Given the description of an element on the screen output the (x, y) to click on. 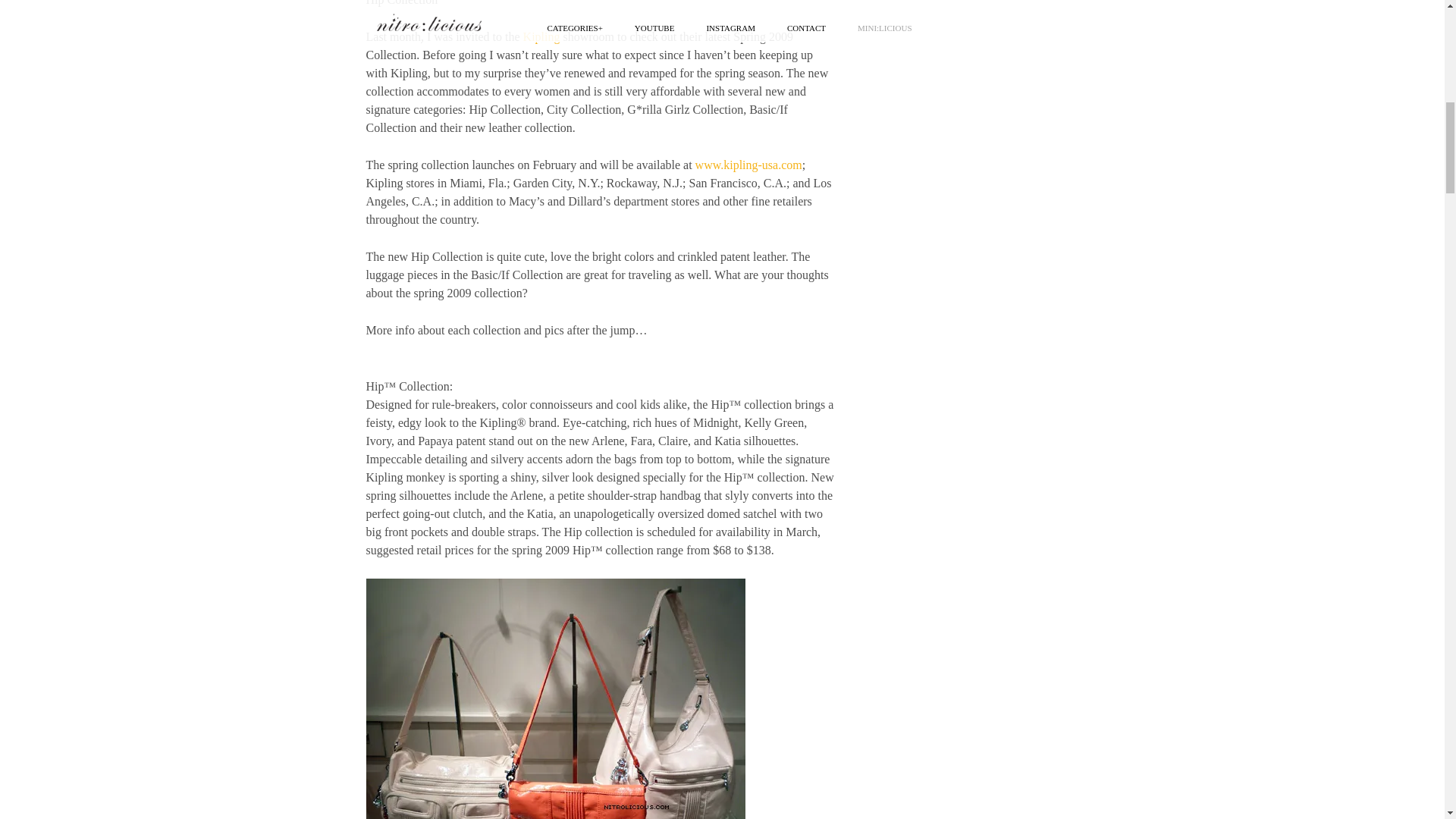
Kipling (541, 36)
www.kipling-usa.com (748, 164)
kipling sp09 03 photo (554, 698)
